Given the description of an element on the screen output the (x, y) to click on. 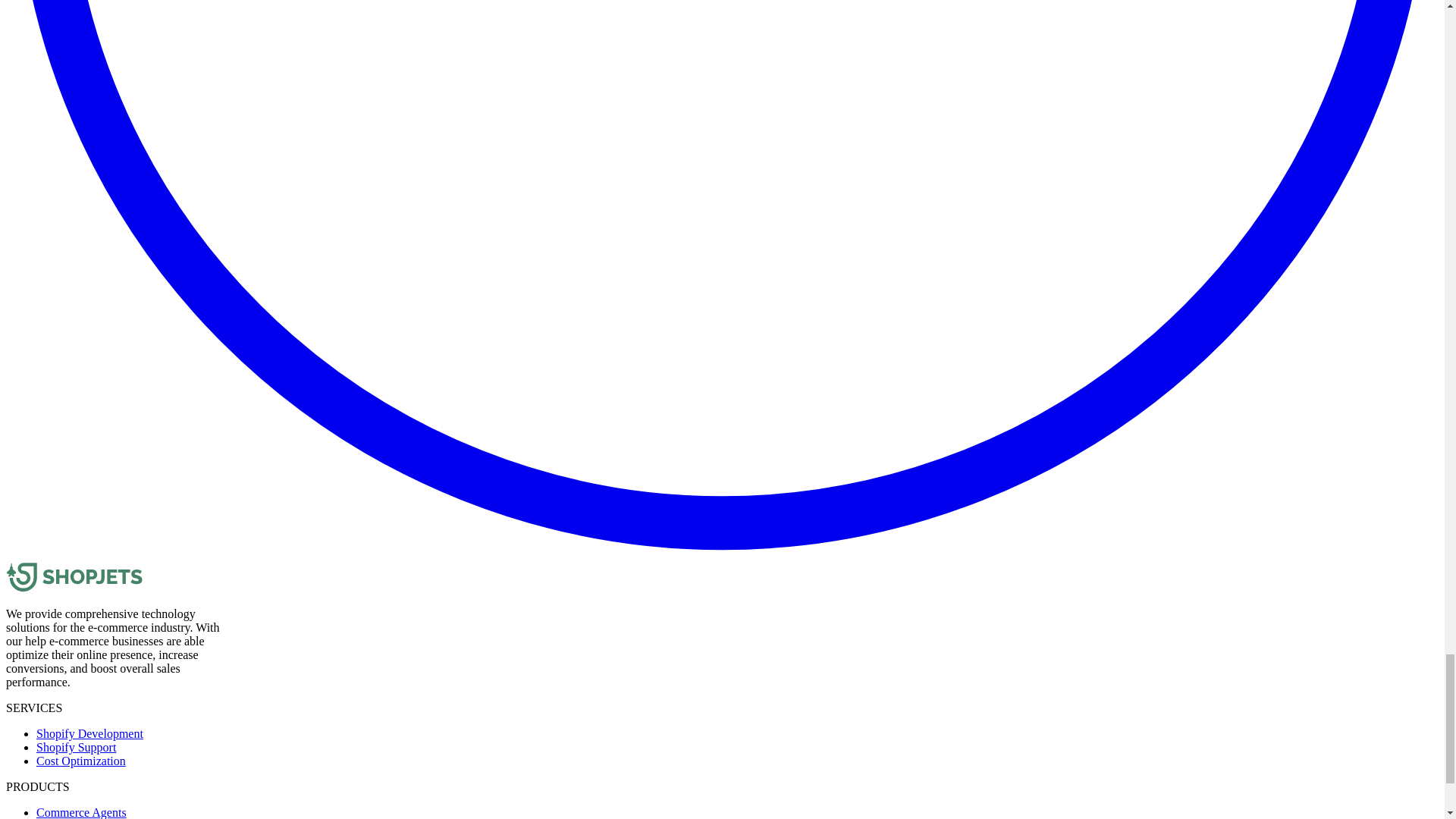
Commerce Agents (81, 812)
Shopify Support (76, 747)
Shopify Development (89, 733)
Cost Optimization (80, 760)
